Given the description of an element on the screen output the (x, y) to click on. 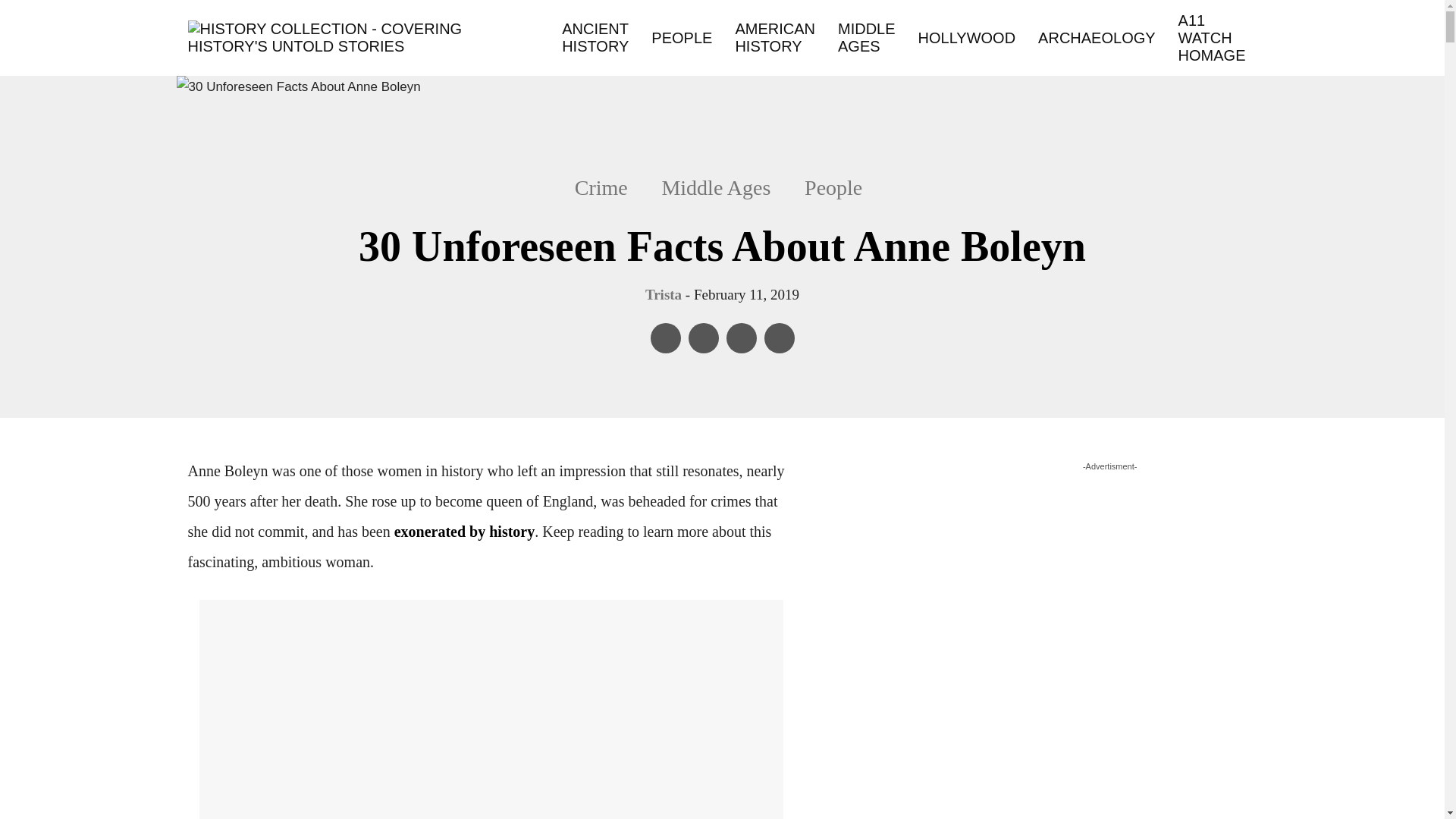
Trista (663, 294)
MIDDLE AGES (865, 37)
ARCHAEOLOGY (1095, 36)
Crime (609, 187)
PEOPLE (681, 36)
ANCIENT HISTORY (595, 37)
AMERICAN HISTORY (774, 37)
People (833, 187)
exonerated by history (464, 531)
Middle Ages (716, 187)
